Given the description of an element on the screen output the (x, y) to click on. 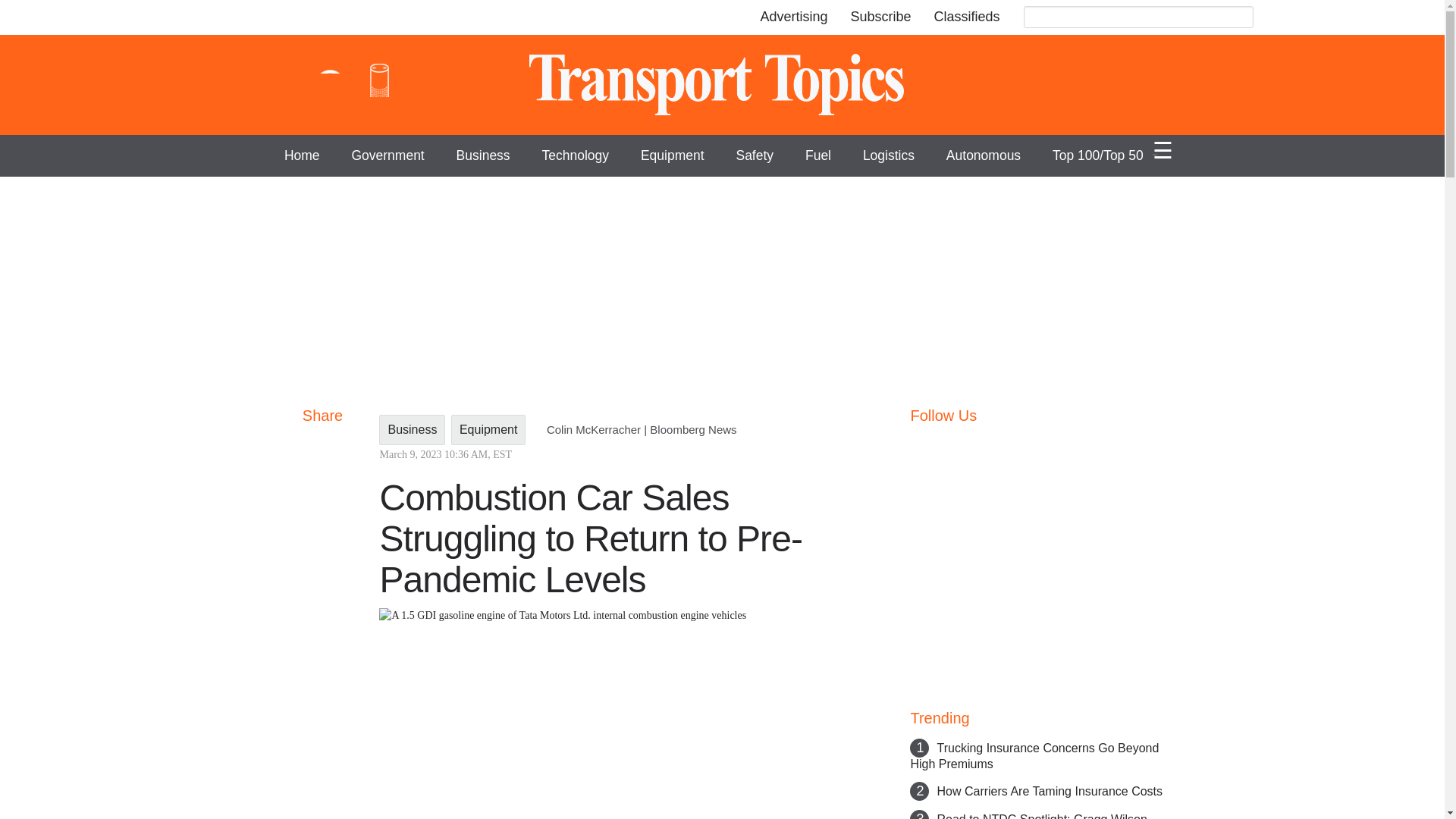
Follow us on Twitter (954, 445)
Roadsigns Podcasts (328, 84)
Combustion-engine-1200.jpg (625, 713)
Home (721, 85)
Follow us on LinkedIn (1037, 445)
Apply (1238, 17)
Subscribe (879, 17)
Advertising (793, 17)
Daily Briefings on Your Smart Speaker (379, 84)
